Given the description of an element on the screen output the (x, y) to click on. 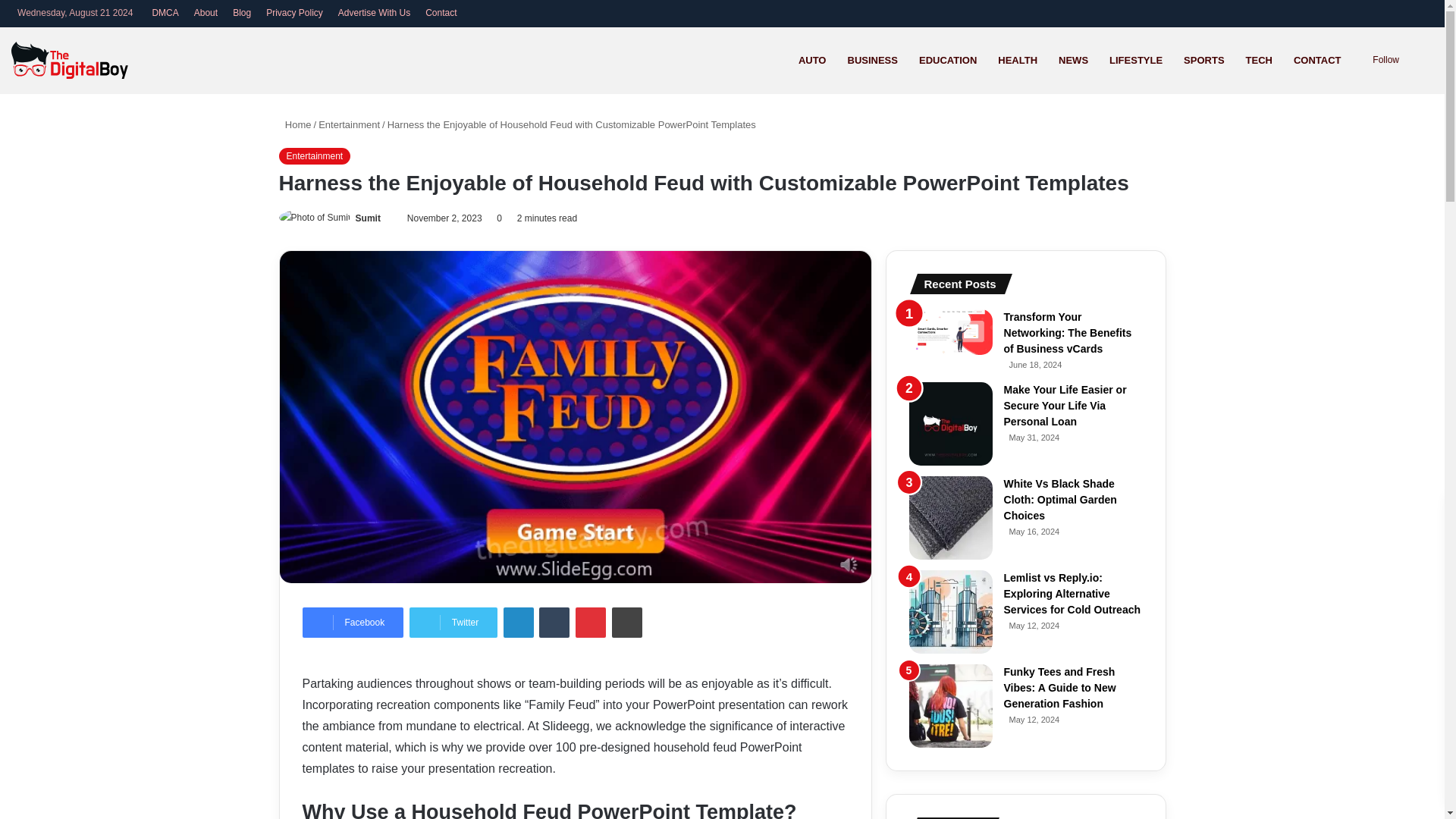
Contact (440, 13)
Entertainment (349, 124)
Facebook (352, 622)
LinkedIn (518, 622)
Home (295, 124)
Privacy Policy (294, 13)
The Digital Boy (69, 59)
HEALTH (1017, 60)
Sumit (367, 217)
DMCA (165, 13)
